Given the description of an element on the screen output the (x, y) to click on. 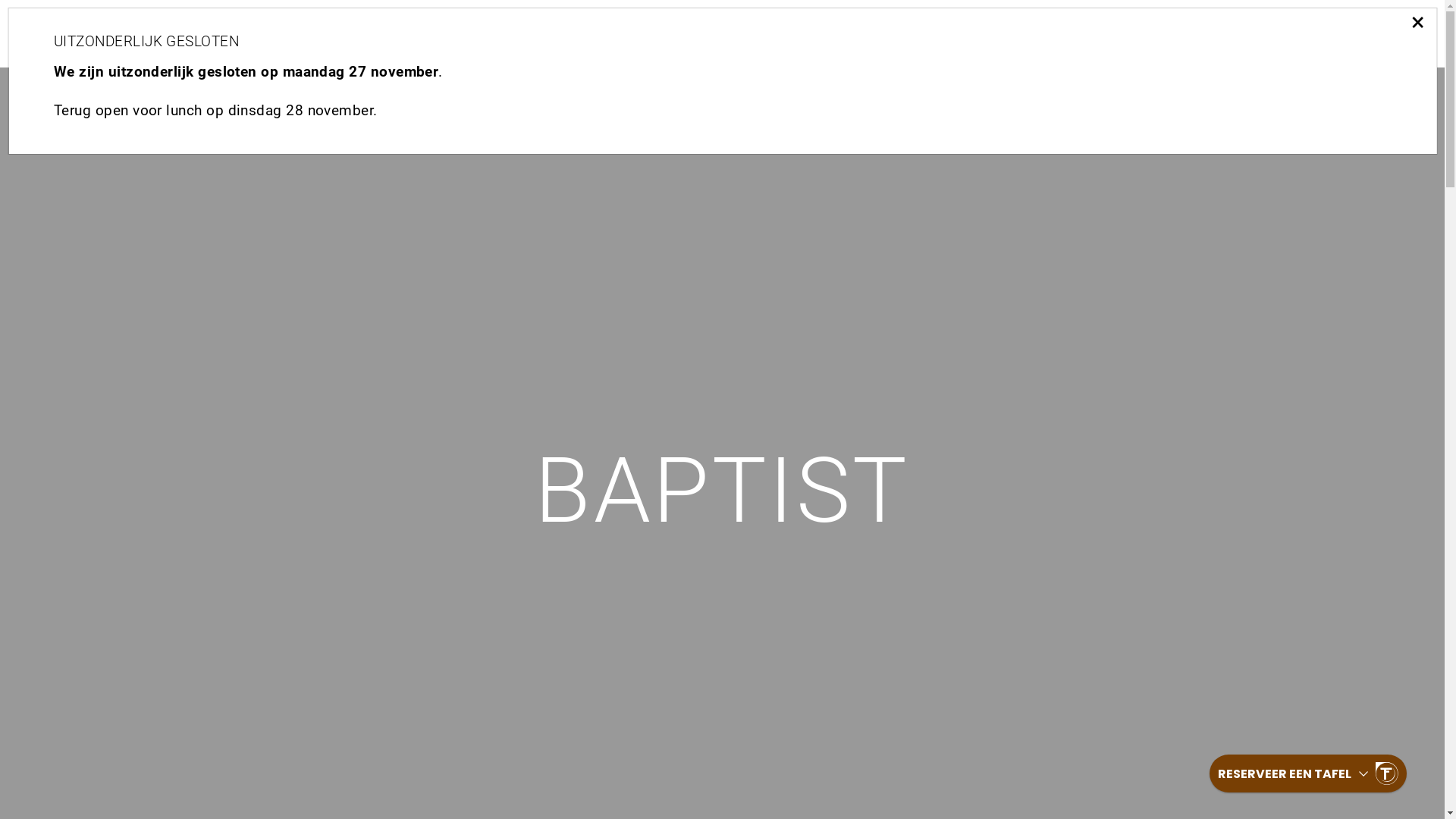
LUNCH Element type: text (1140, 35)
CONTACT Element type: text (848, 35)
MENU Element type: text (1214, 35)
GALERIJ Element type: text (941, 35)
CADEAUBON Element type: text (1043, 35)
HOME Element type: text (1397, 35)
